Given the description of an element on the screen output the (x, y) to click on. 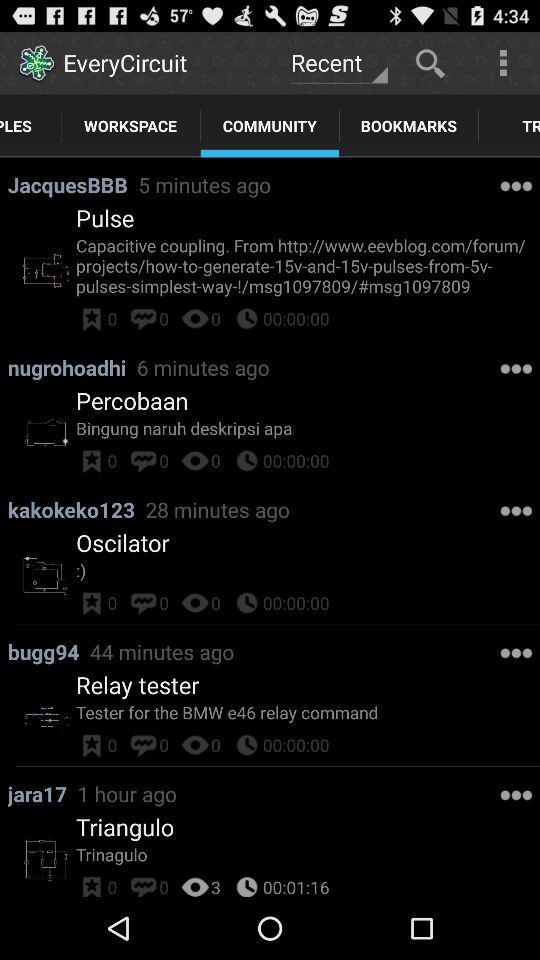
tap the 3 app (215, 883)
